Given the description of an element on the screen output the (x, y) to click on. 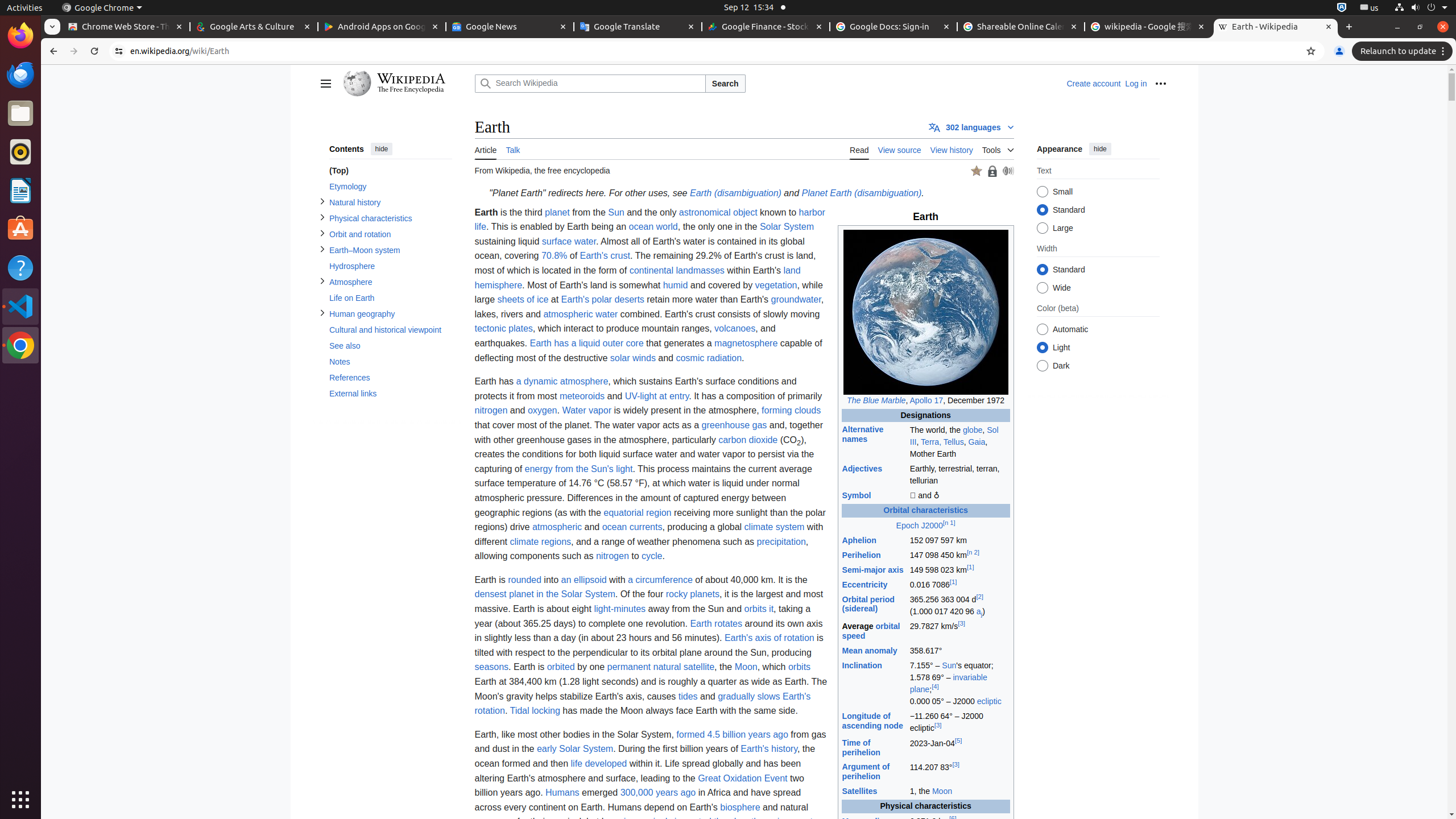
View site information Element type: push-button (118, 51)
View history Element type: link (951, 148)
Read Element type: link (859, 148)
precipitation Element type: link (780, 541)
7.155° – Sun's equator; 1.57869° – invariable plane;[4] 0.00005° – J2000 ecliptic Element type: table-cell (959, 683)
